Given the description of an element on the screen output the (x, y) to click on. 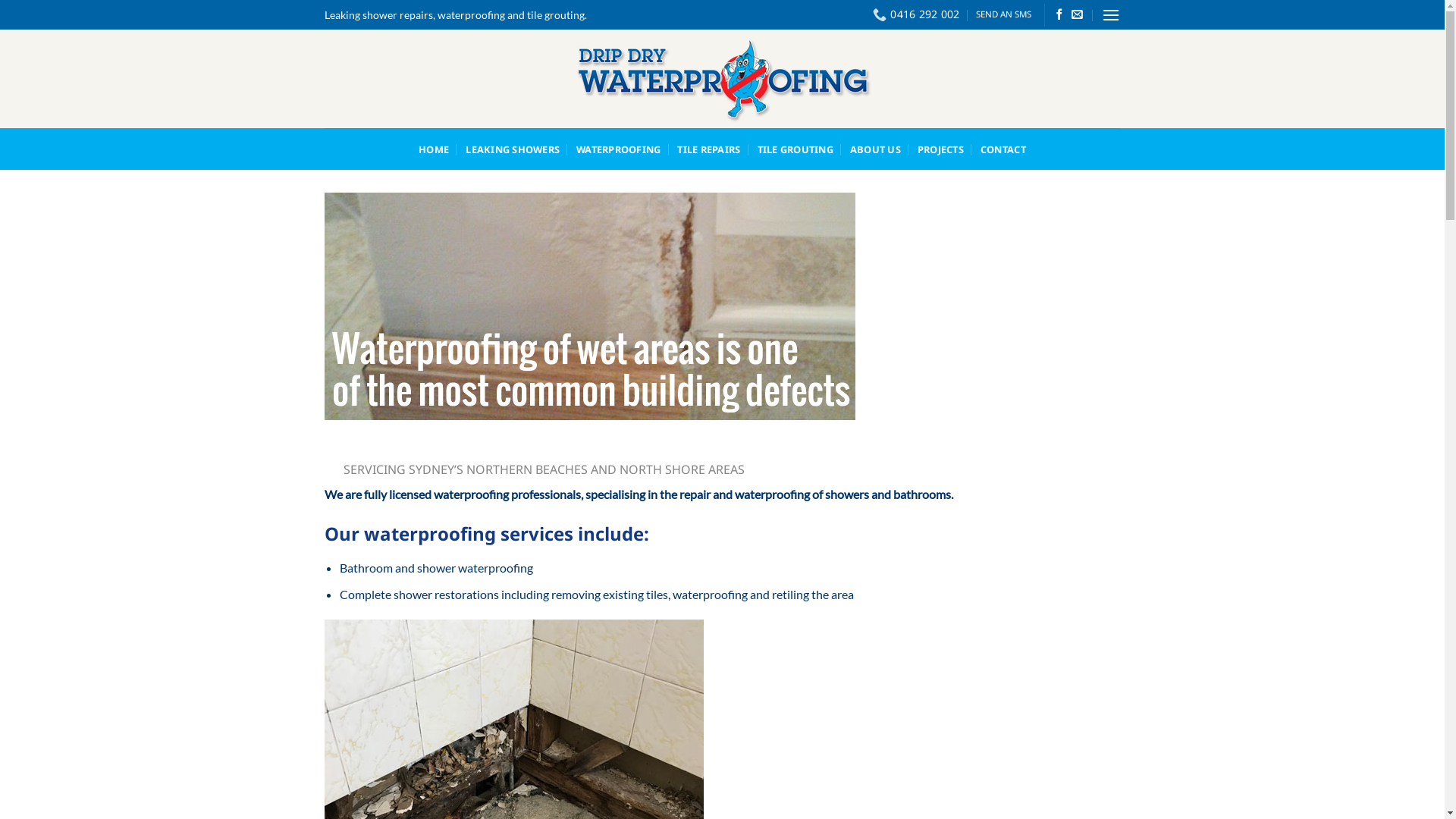
LEAKING SHOWERS Element type: text (512, 149)
PROJECTS Element type: text (940, 149)
SEND AN SMS Element type: text (1003, 14)
TILE GROUTING Element type: text (795, 149)
ABOUT US Element type: text (875, 149)
HOME Element type: text (433, 149)
CONTACT Element type: text (1003, 149)
WATERPROOFING Element type: text (618, 149)
0416 292 002 Element type: text (915, 14)
TILE REPAIRS Element type: text (708, 149)
